Given the description of an element on the screen output the (x, y) to click on. 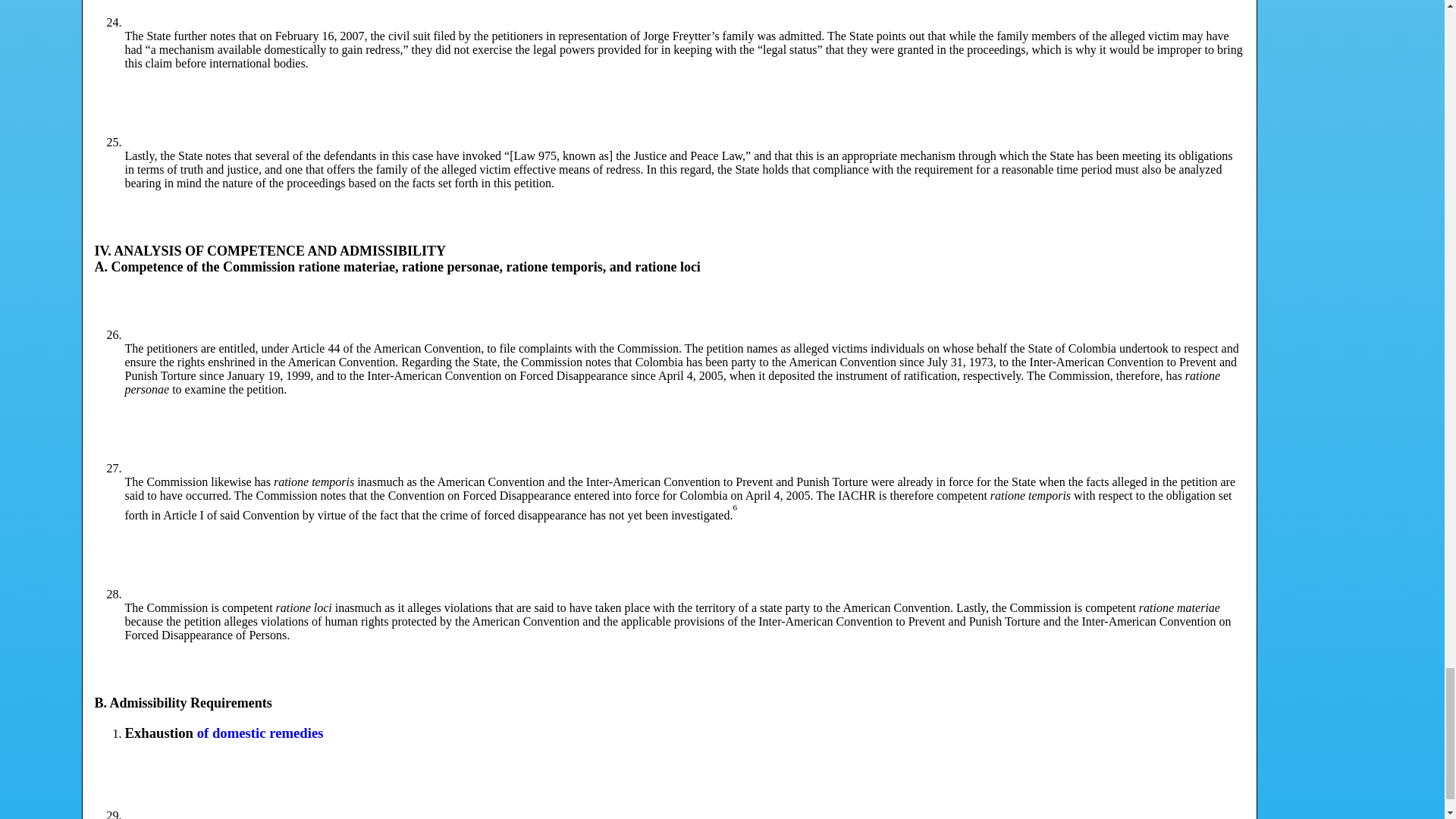
of domestic remedies (259, 732)
